Given the description of an element on the screen output the (x, y) to click on. 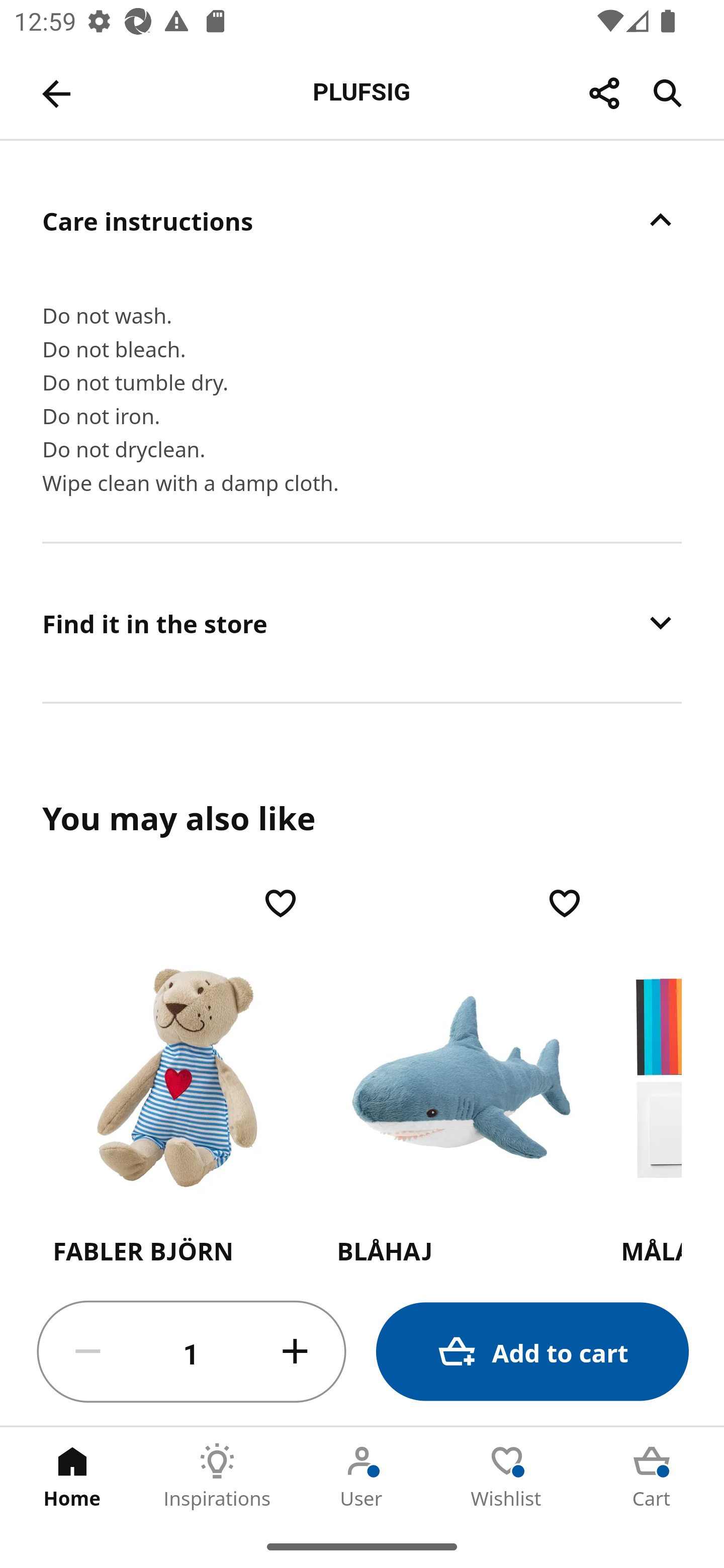
Care instructions (361, 219)
Find it in the store (361, 622)
Add to cart (531, 1352)
1 (191, 1352)
Home
Tab 1 of 5 (72, 1476)
Inspirations
Tab 2 of 5 (216, 1476)
User
Tab 3 of 5 (361, 1476)
Wishlist
Tab 4 of 5 (506, 1476)
Cart
Tab 5 of 5 (651, 1476)
